Given the description of an element on the screen output the (x, y) to click on. 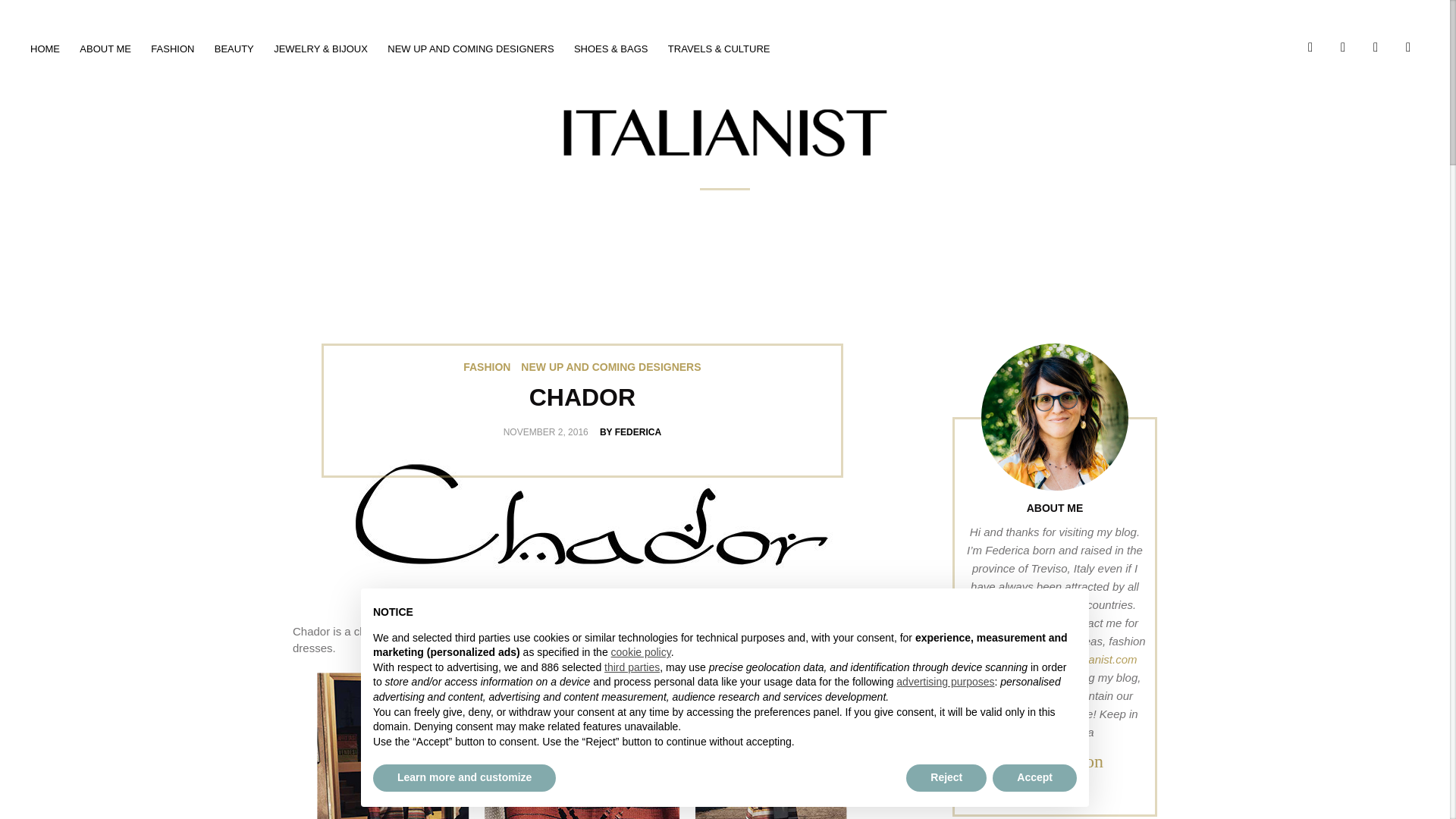
NEW UP AND COMING DESIGNERS (470, 48)
BEAUTY (234, 48)
FASHION (172, 48)
FASHION (487, 366)
HOME (45, 48)
ABOUT ME (105, 48)
